Given the description of an element on the screen output the (x, y) to click on. 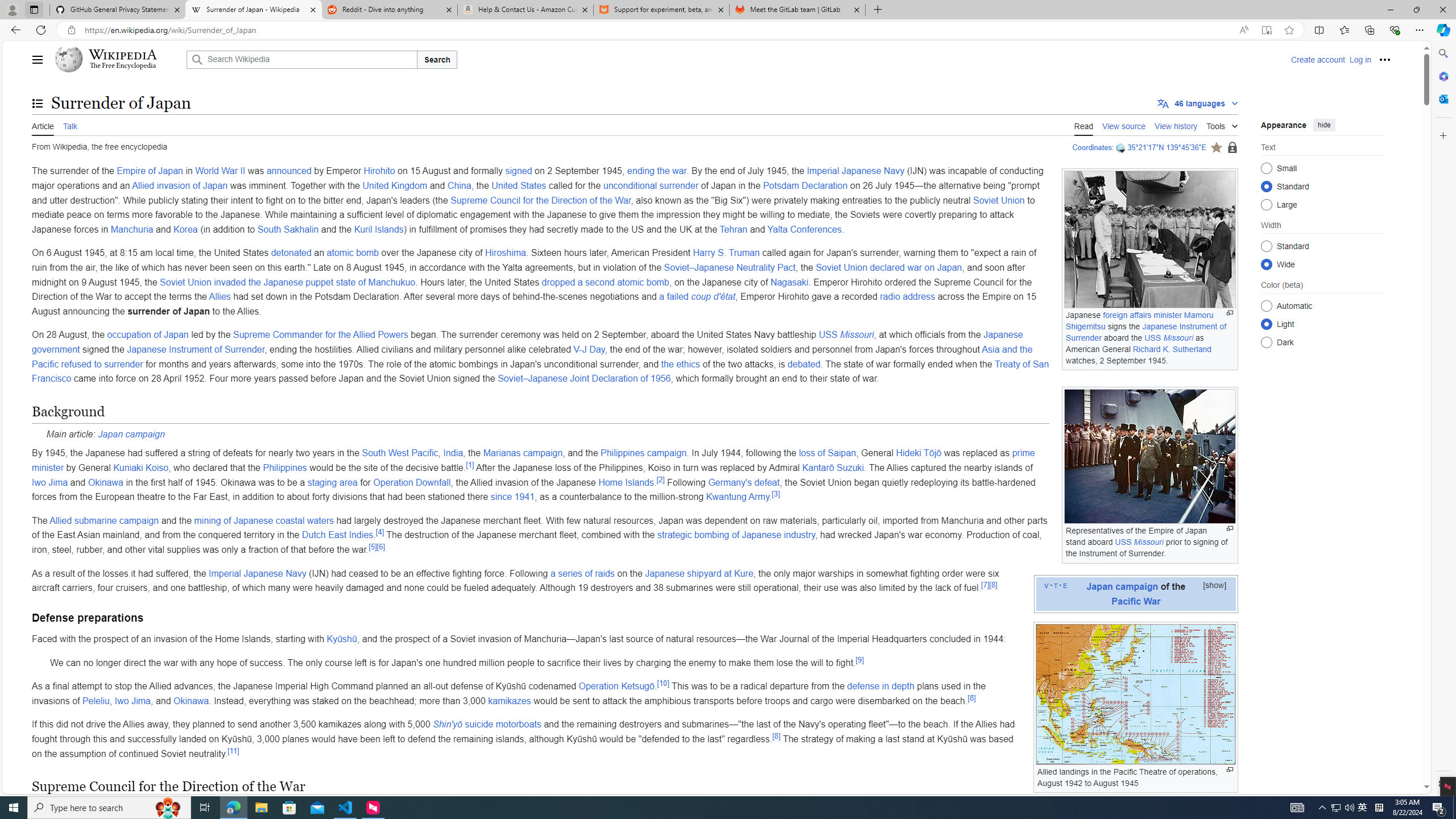
Class: mw-file-description (1135, 693)
Large (1266, 204)
Home Islands (625, 482)
Japanese shipyard at Kure (699, 573)
unconditional surrender (650, 185)
Nagasaki (789, 281)
Search Wikipedia (301, 59)
[9] (859, 659)
